Given the description of an element on the screen output the (x, y) to click on. 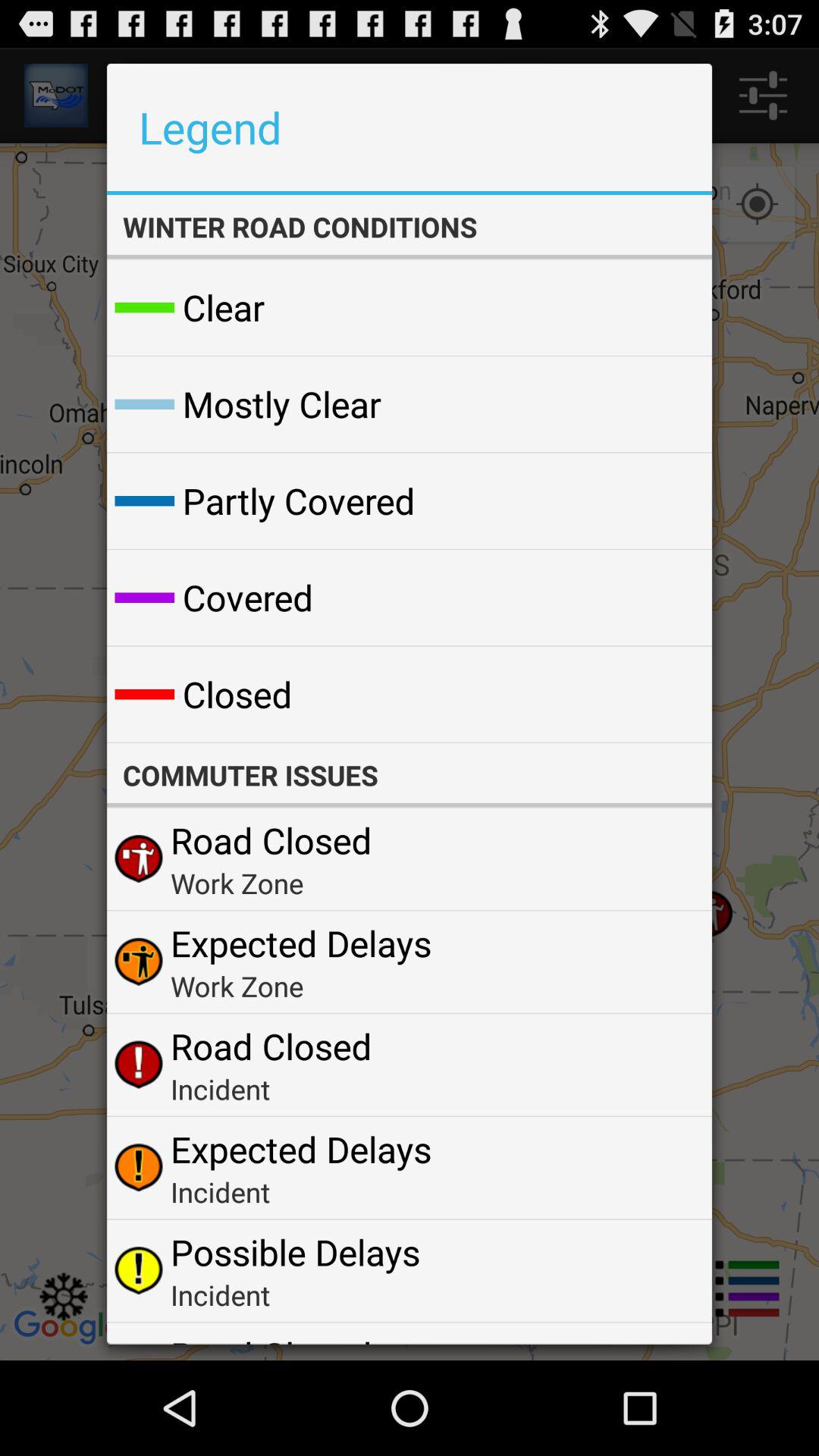
open the app next to road closed item (664, 1338)
